Given the description of an element on the screen output the (x, y) to click on. 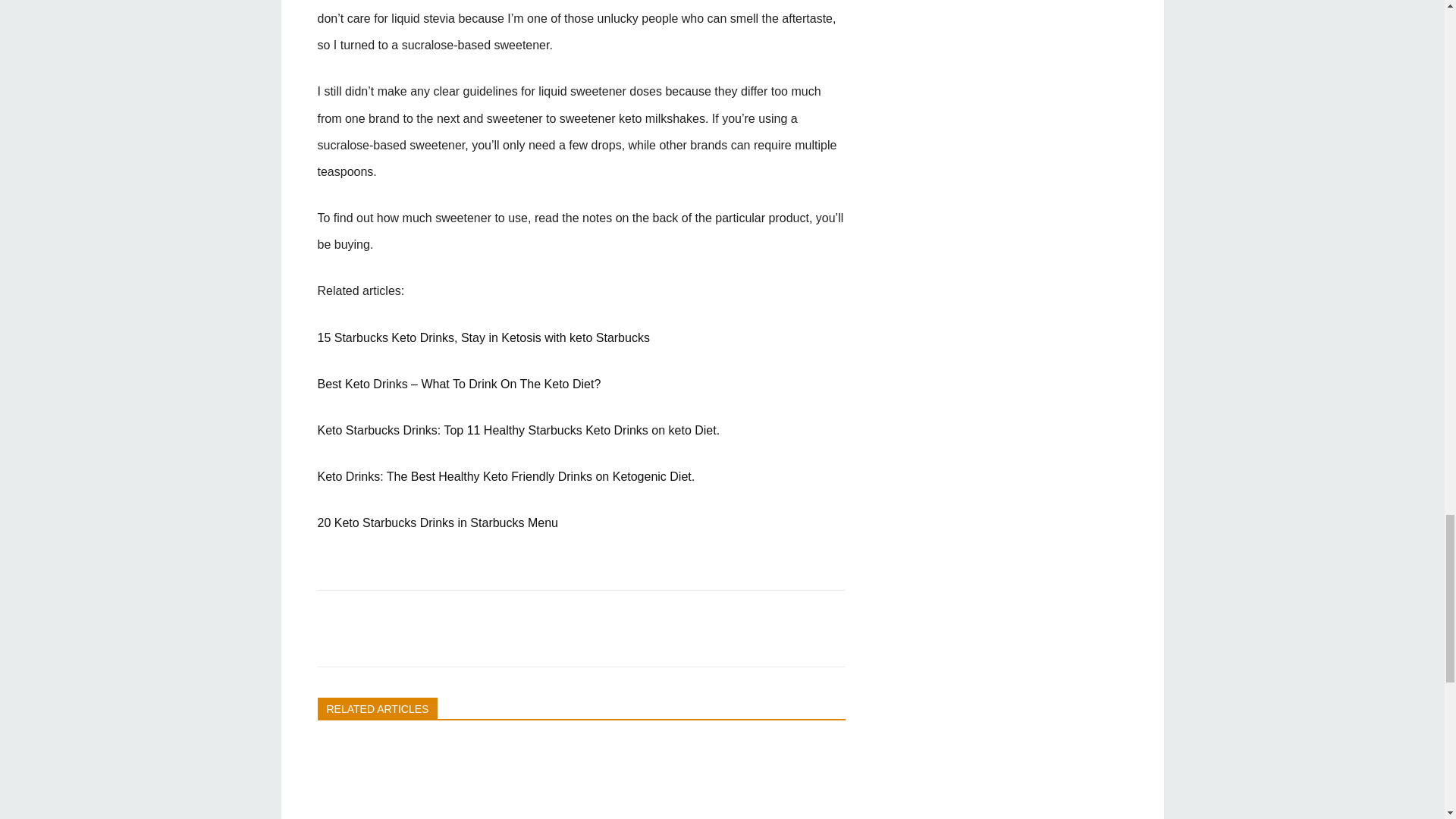
20 Keto Starbucks Drinks in Starbucks Menu (437, 522)
